Given the description of an element on the screen output the (x, y) to click on. 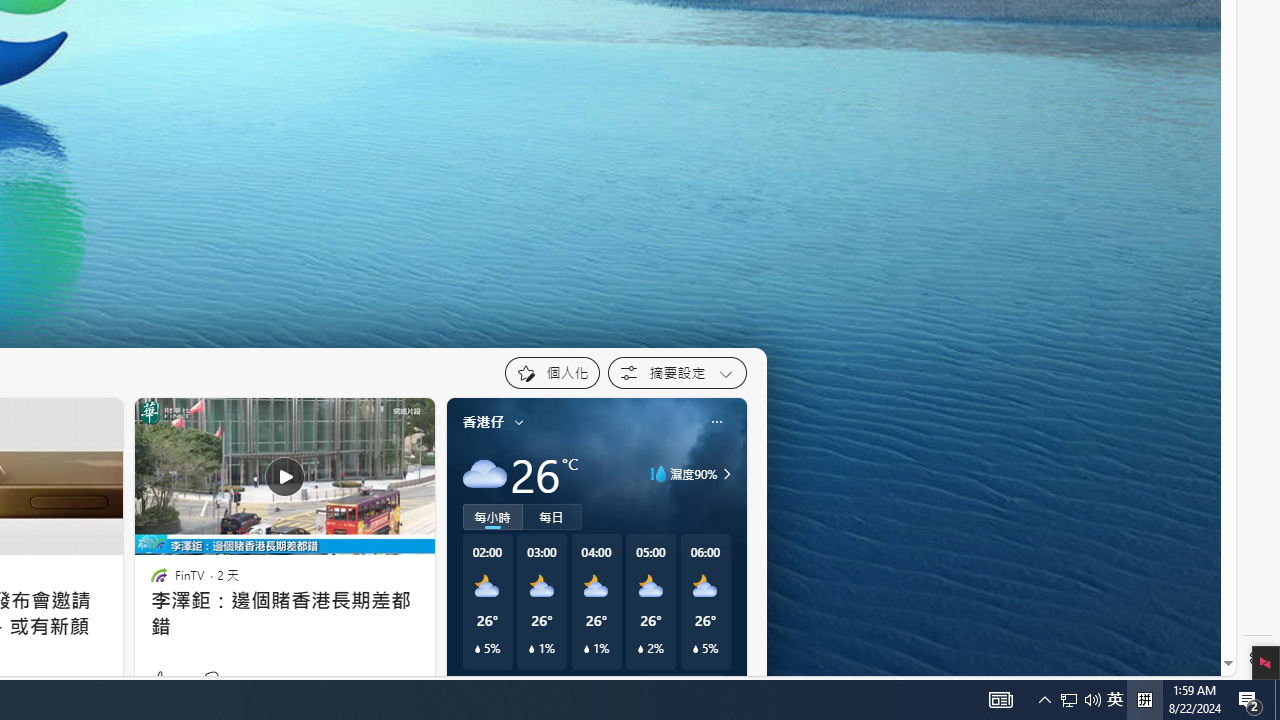
Class: weather-arrow-glyph (726, 474)
